Given the description of an element on the screen output the (x, y) to click on. 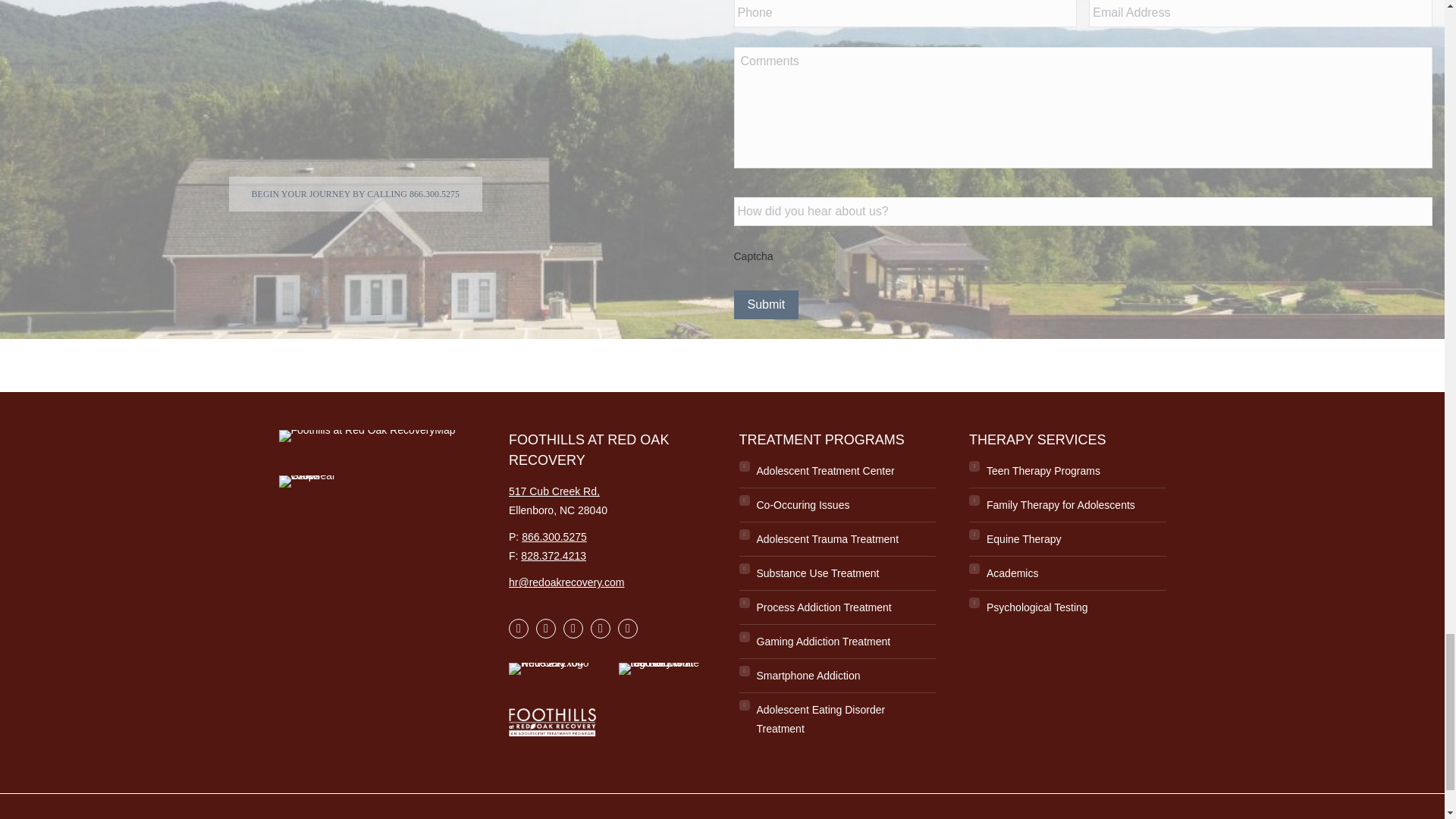
Submit (766, 304)
